Given the description of an element on the screen output the (x, y) to click on. 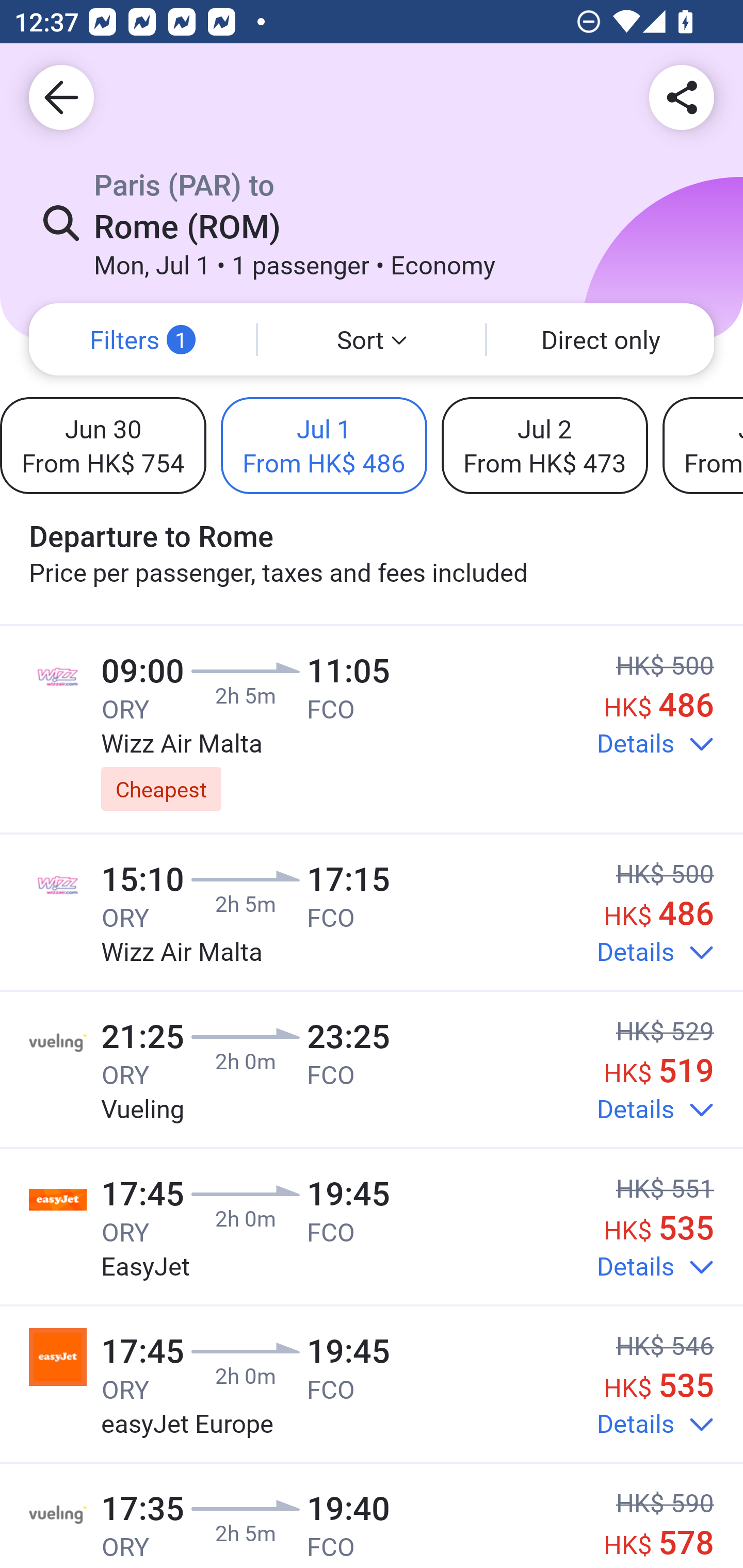
Filters 1 (141, 339)
Sort (371, 339)
Direct only (600, 339)
Jun 30 From HK$ 754 (103, 444)
Jul 1 From HK$ 486 (323, 444)
Jul 2 From HK$ 473 (544, 444)
